Given the description of an element on the screen output the (x, y) to click on. 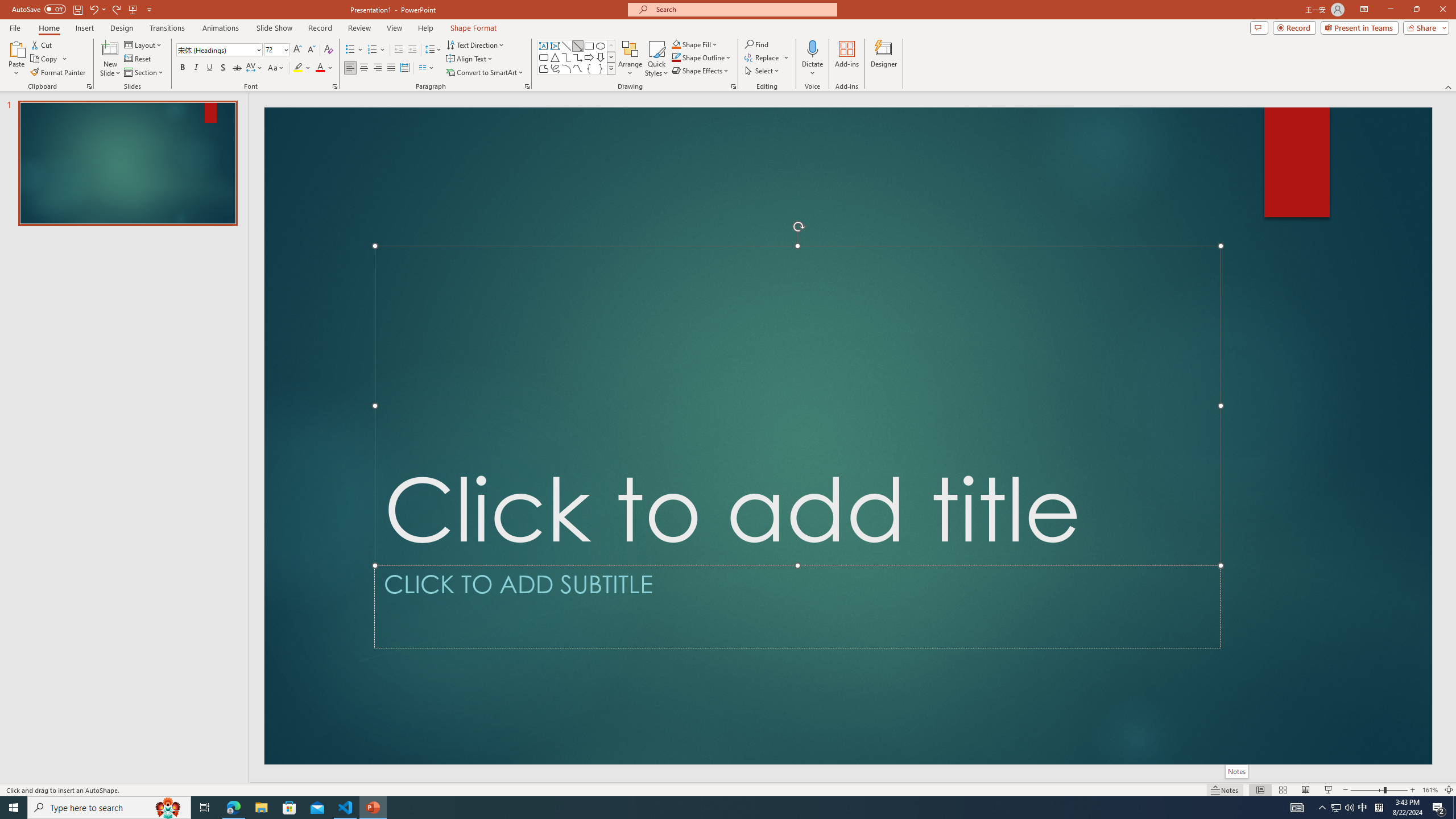
Zoom 161% (1430, 790)
